Given the description of an element on the screen output the (x, y) to click on. 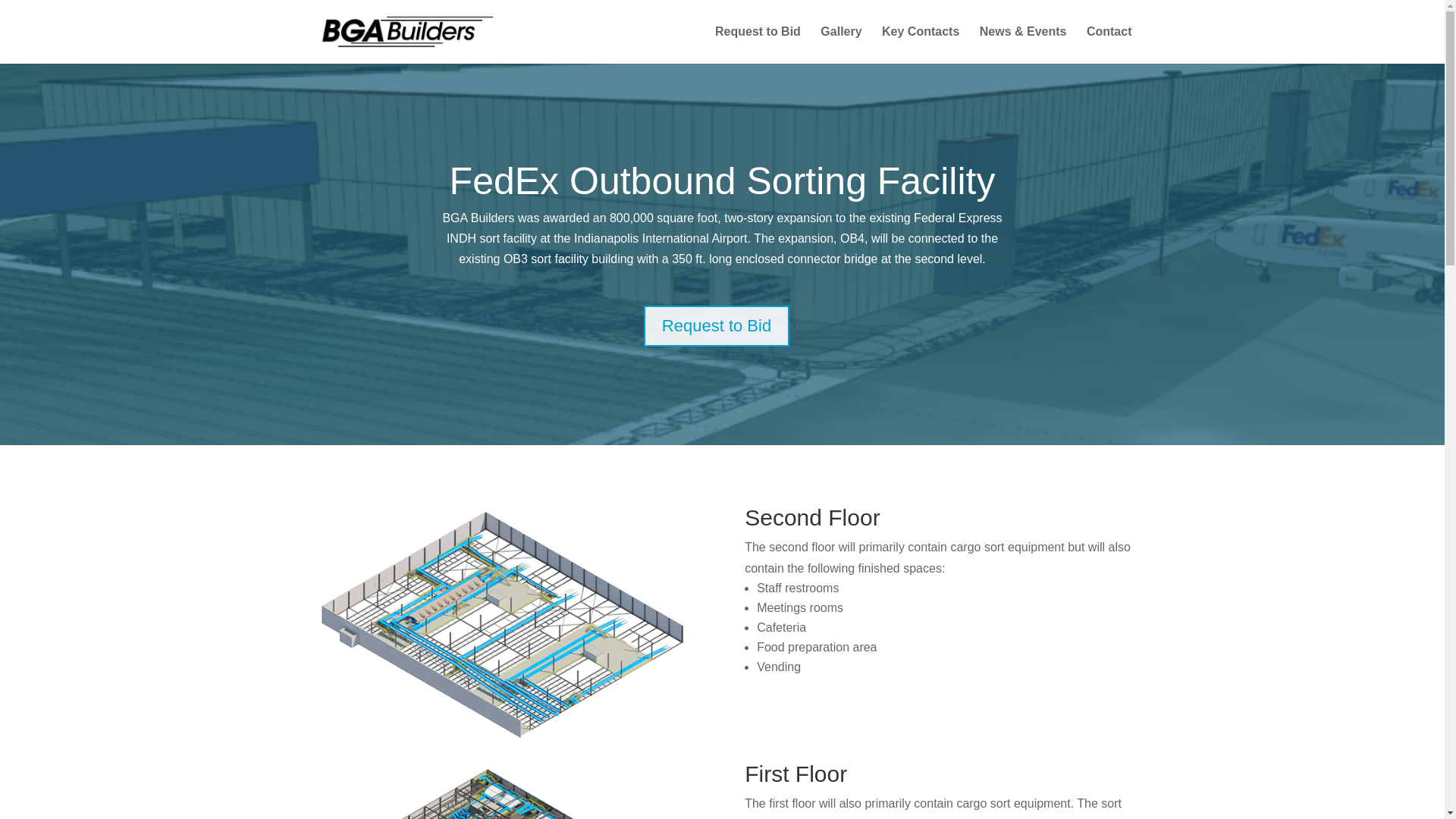
Gallery (841, 44)
Request to Bid (757, 44)
Key Contacts (920, 44)
Contact (1109, 44)
Request to Bid (716, 326)
